Given the description of an element on the screen output the (x, y) to click on. 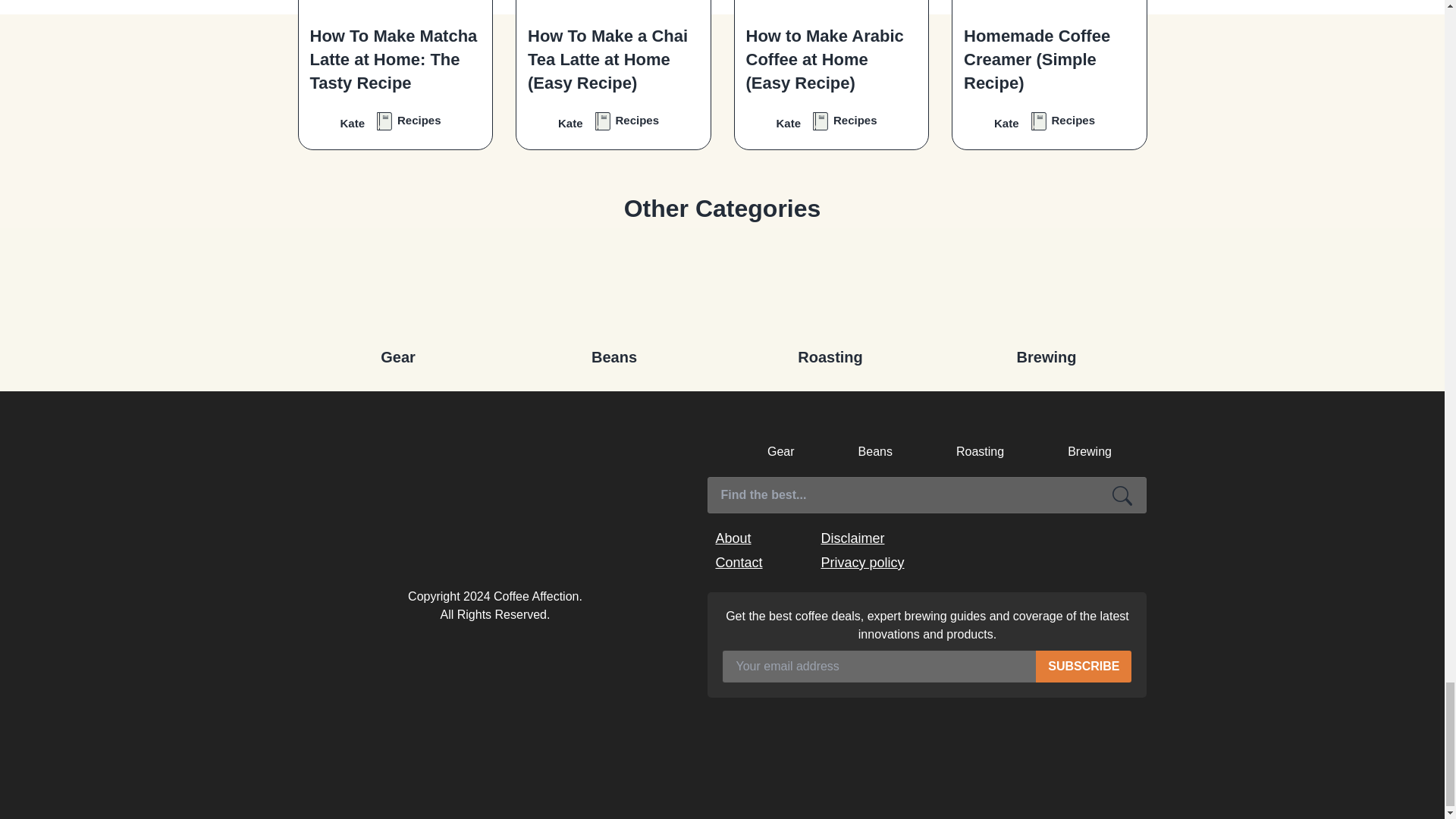
Beans (614, 290)
Roasting (829, 290)
Gear (397, 290)
Search (1122, 494)
Brewing (1046, 290)
